Given the description of an element on the screen output the (x, y) to click on. 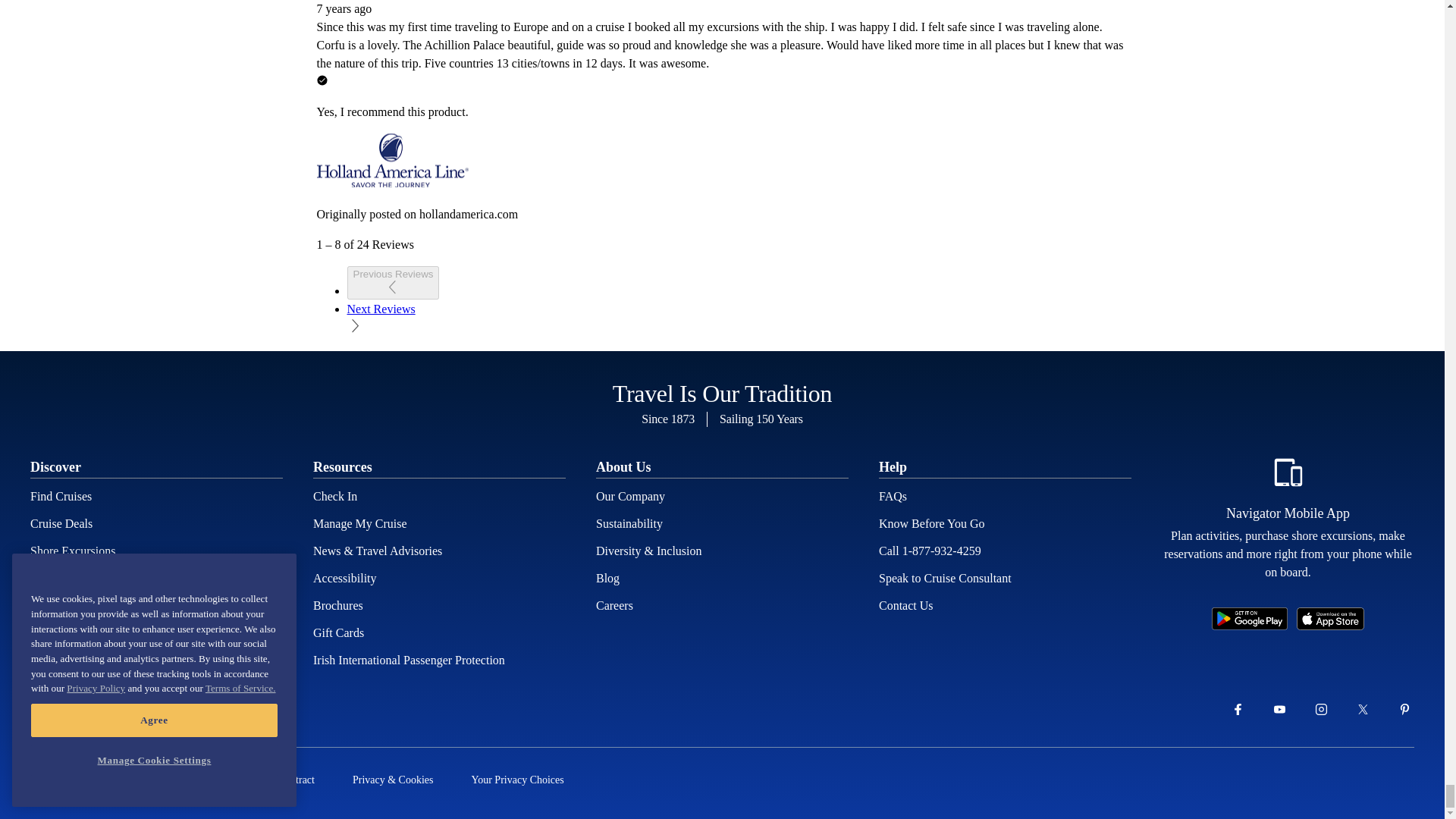
White icon of Instagram (1320, 709)
White icon devices (1287, 472)
White icon of Pinterest (1403, 709)
White icon of YouTube (1278, 709)
Apple Store Button (1330, 618)
White icon of Twitter (1363, 709)
White icon of Facebook (1237, 709)
Google Play button (1249, 618)
